Given the description of an element on the screen output the (x, y) to click on. 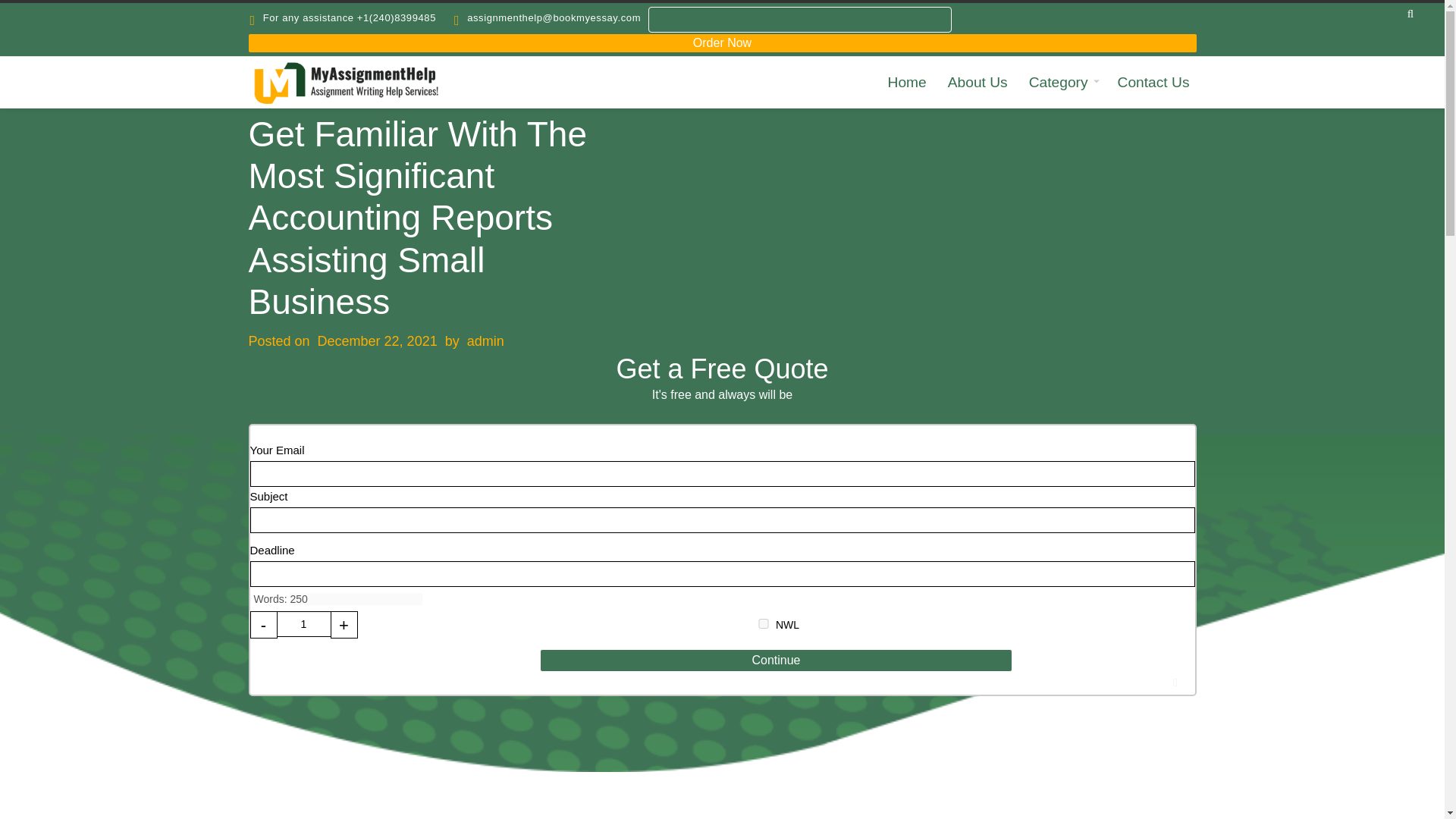
View all posts by admin (485, 340)
- (264, 624)
1 (304, 623)
Category (1061, 82)
on (763, 623)
Contact Us (1152, 82)
250 (355, 598)
About Us (977, 82)
admin (485, 340)
Home (907, 82)
Order Now (722, 42)
Order Now (722, 43)
Continue (775, 660)
